Given the description of an element on the screen output the (x, y) to click on. 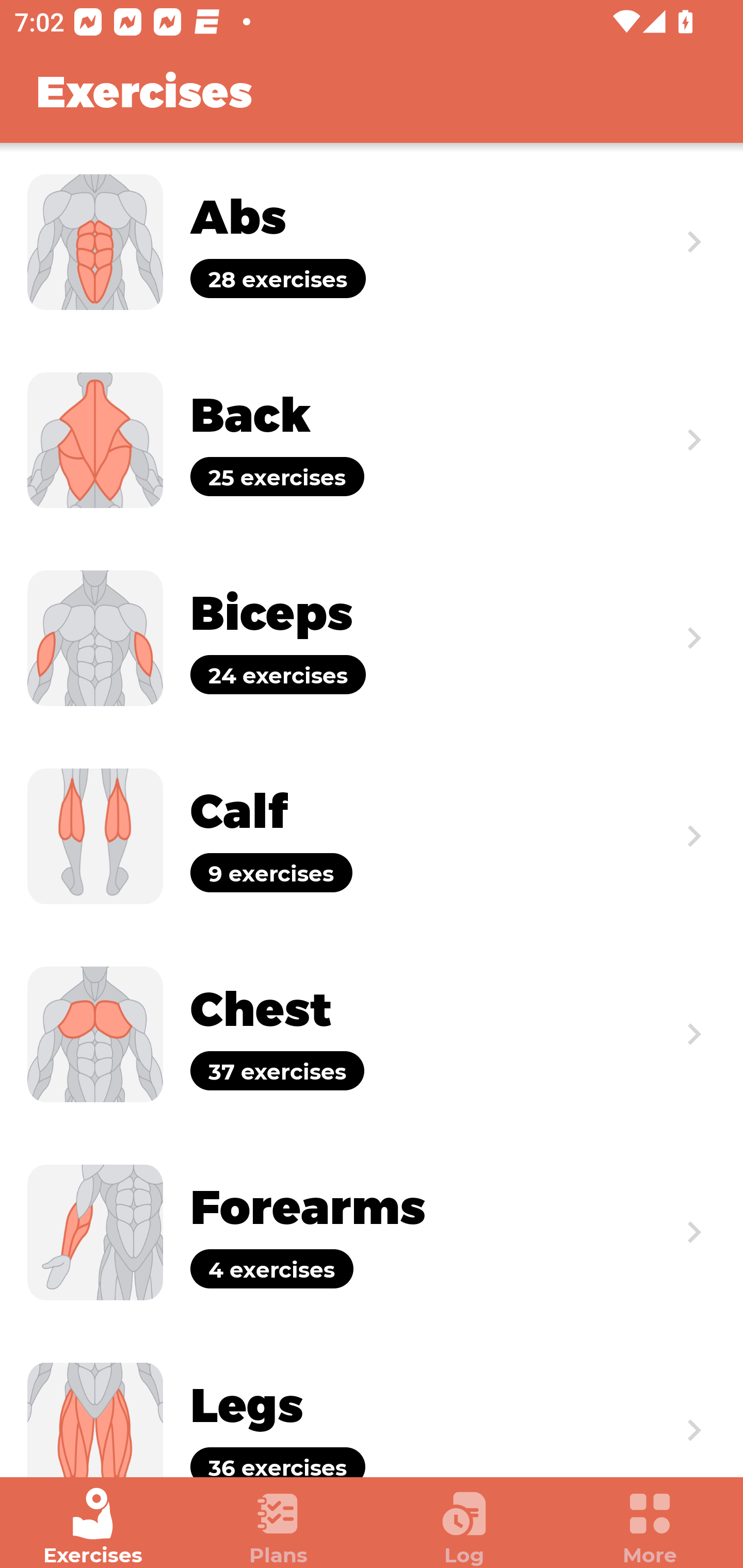
Exercise Abs 28 exercises (371, 241)
Exercise Back 25 exercises (371, 439)
Exercise Biceps 24 exercises (371, 637)
Exercise Calf 9 exercises (371, 836)
Exercise Chest 37 exercises (371, 1033)
Exercise Forearms 4 exercises (371, 1232)
Exercise Legs 36 exercises (371, 1404)
Exercises (92, 1527)
Plans (278, 1527)
Log (464, 1527)
More (650, 1527)
